Given the description of an element on the screen output the (x, y) to click on. 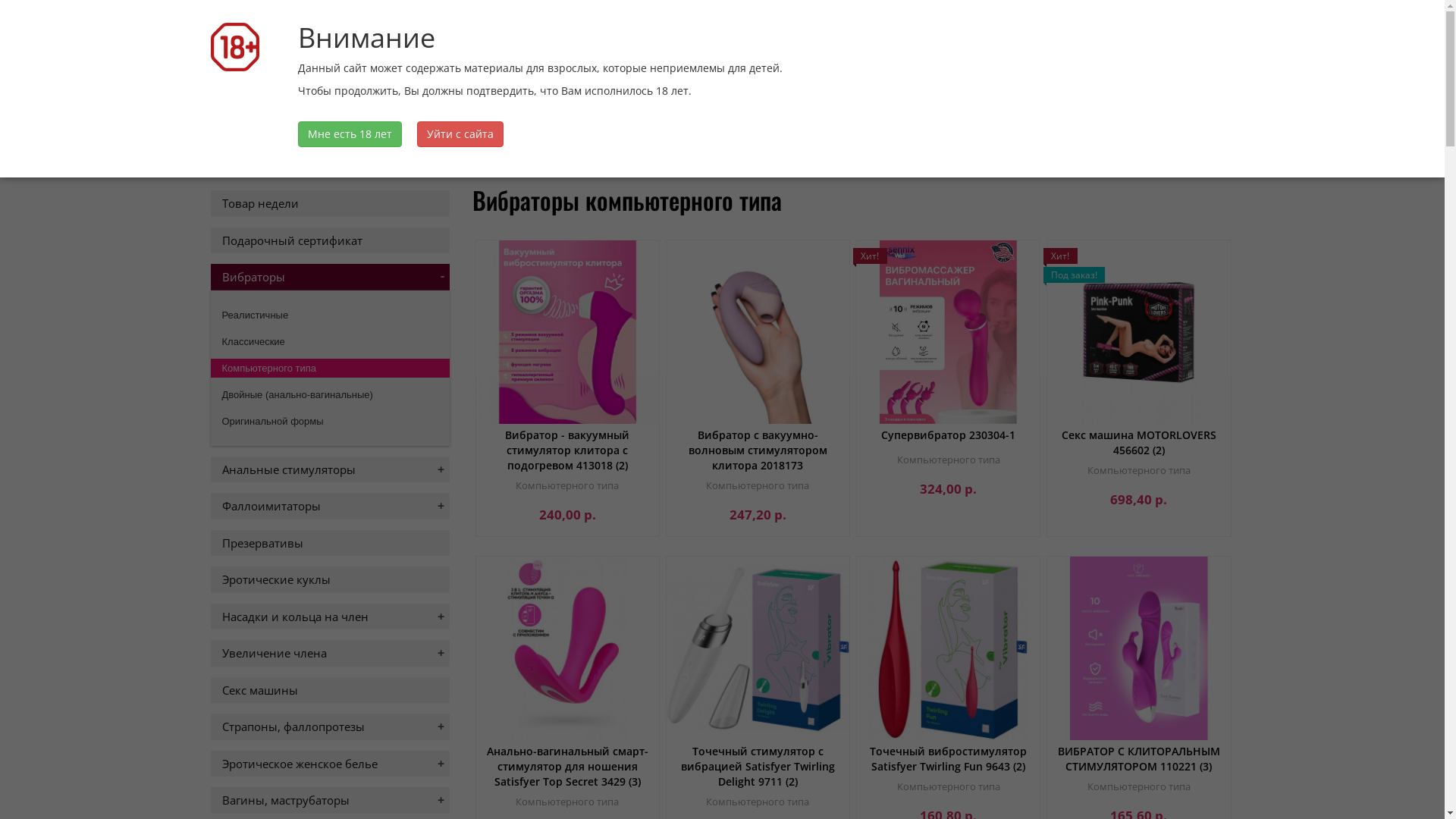
+375447975975 Element type: text (417, 128)
+375292275275 Element type: text (267, 128)
